Given the description of an element on the screen output the (x, y) to click on. 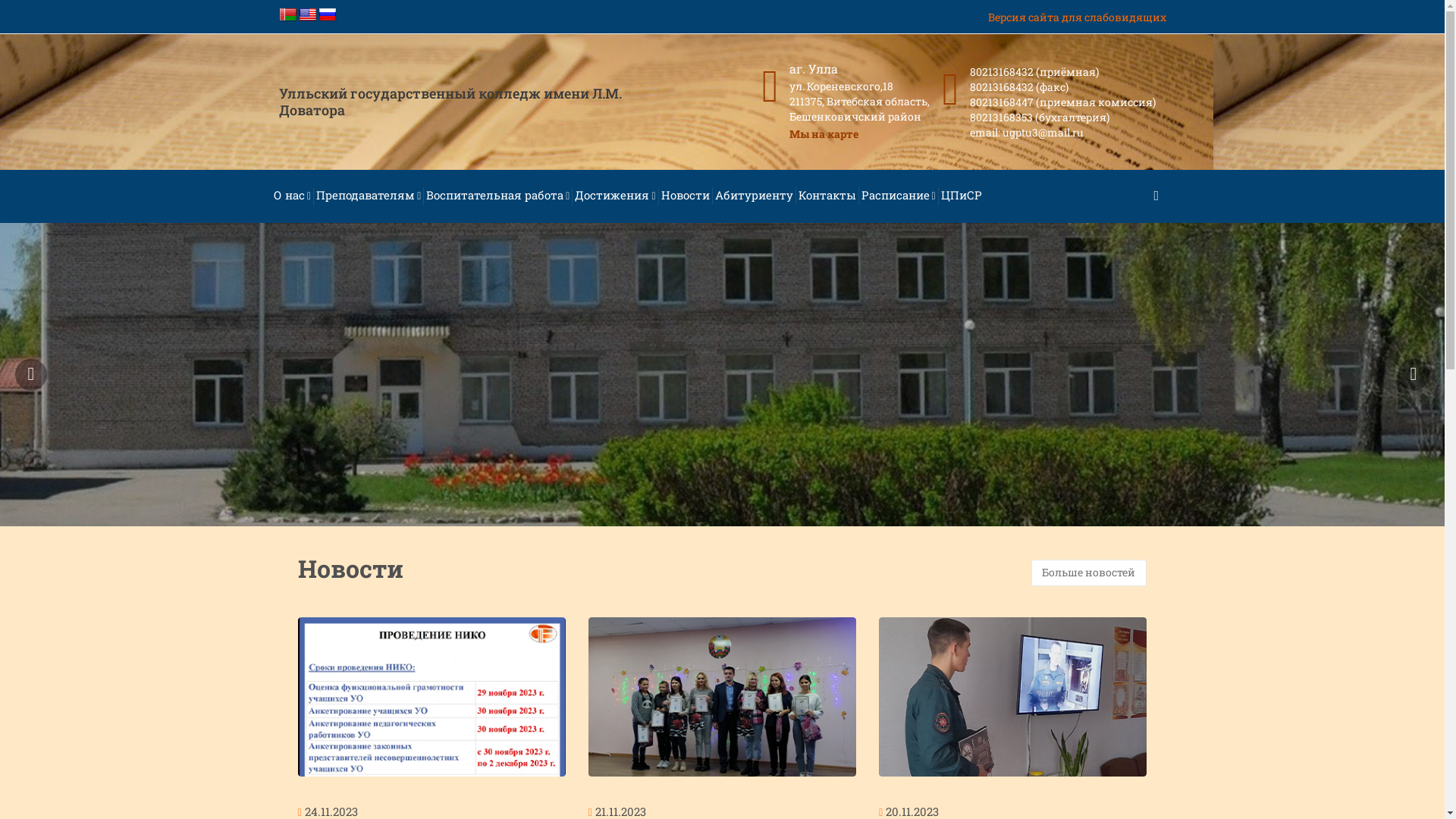
English Element type: hover (307, 14)
Russian Element type: hover (327, 14)
Belarusian Element type: hover (288, 14)
